Given the description of an element on the screen output the (x, y) to click on. 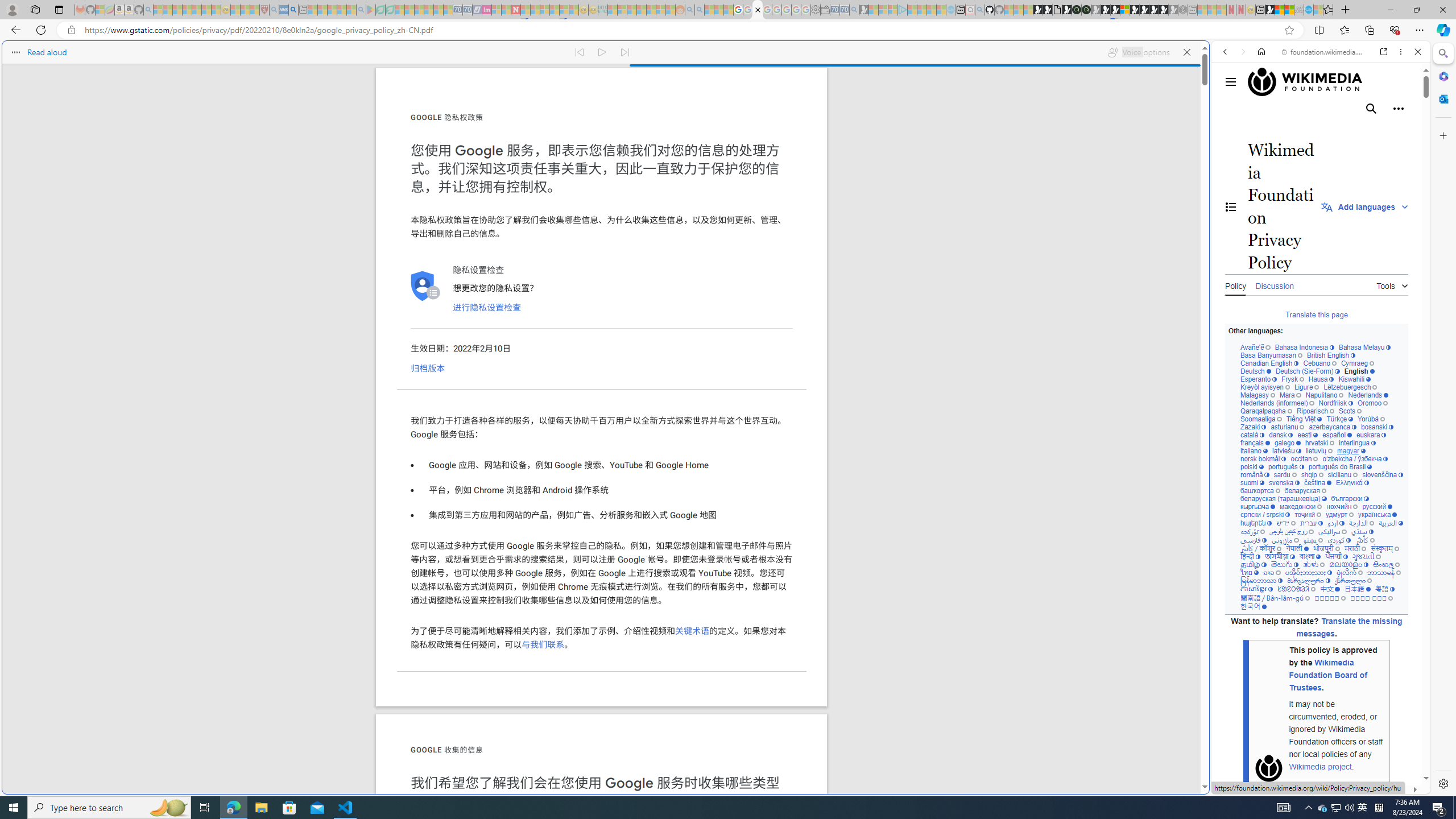
Esperanto (1258, 379)
Cymraeg (1357, 363)
Ligure (1306, 387)
British English (1330, 355)
